Given the description of an element on the screen output the (x, y) to click on. 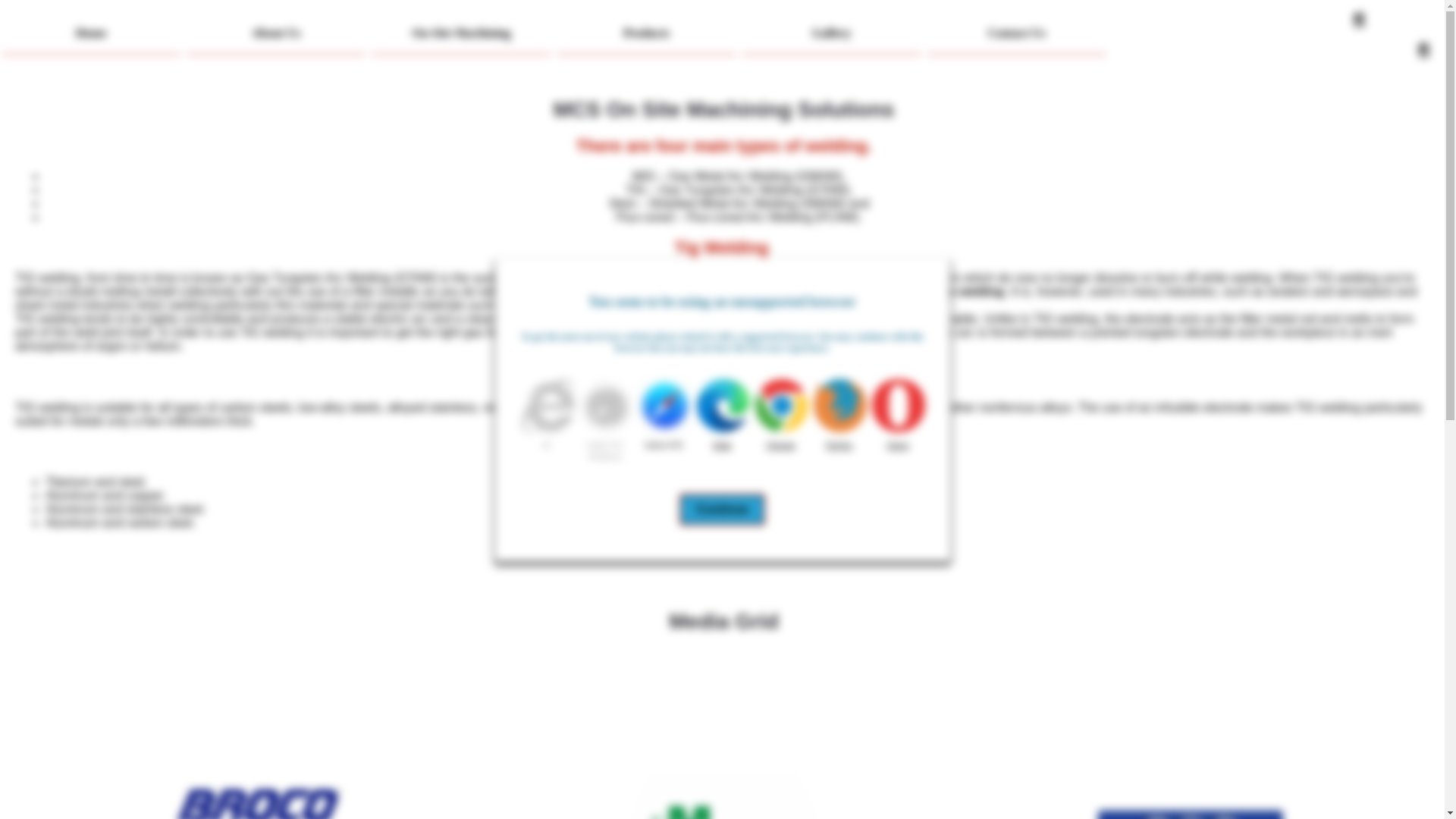
Products (645, 33)
Home (90, 33)
Gallery (831, 33)
Continue (722, 509)
About Us (275, 33)
On-Site Machining (460, 33)
Contact Us (1016, 33)
